Given the description of an element on the screen output the (x, y) to click on. 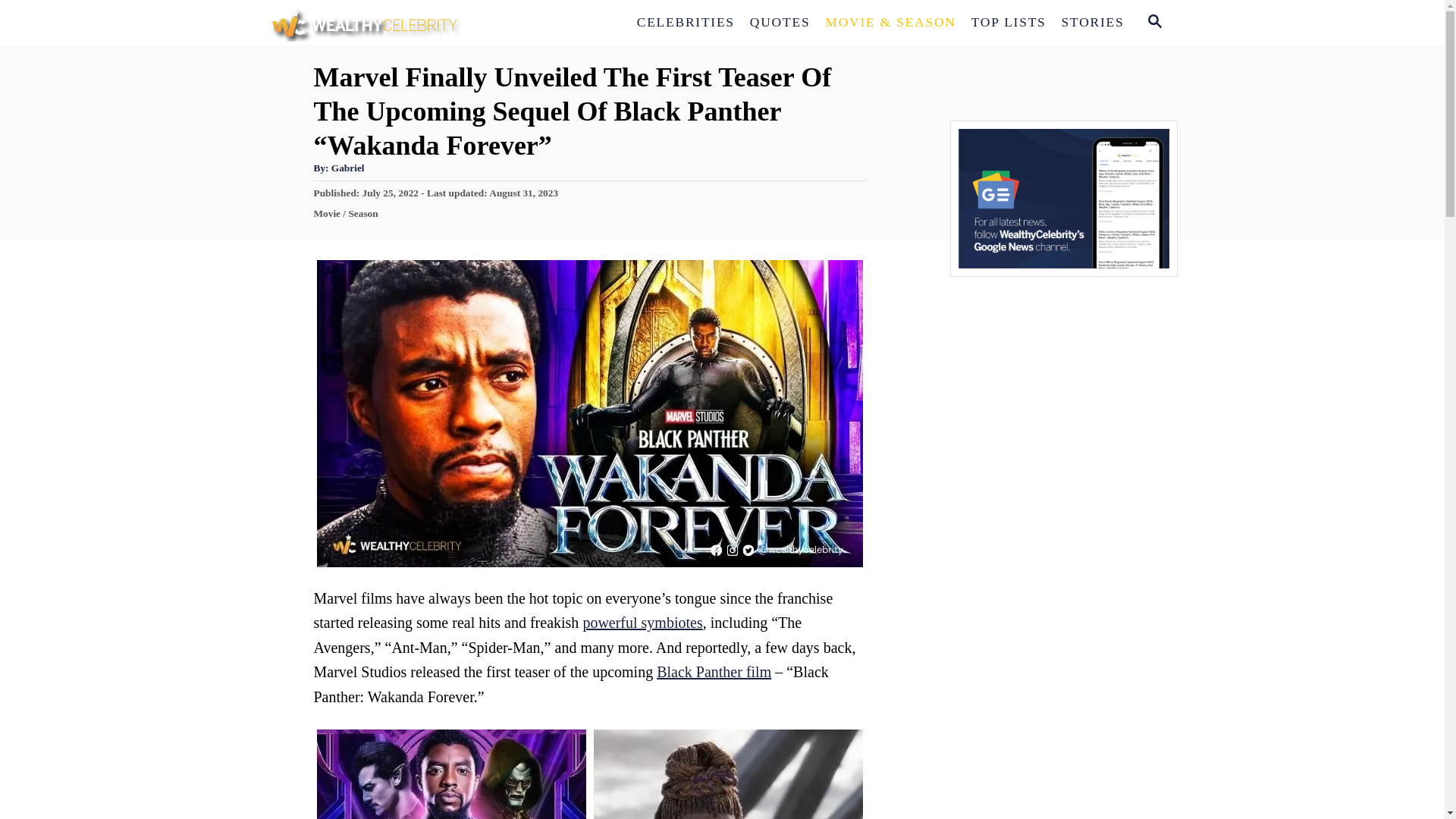
SEARCH (1153, 22)
Wealthy Celebrity (403, 22)
CELEBRITIES (685, 22)
TOP LISTS (1008, 22)
QUOTES (780, 22)
Black Panther (590, 774)
